Given the description of an element on the screen output the (x, y) to click on. 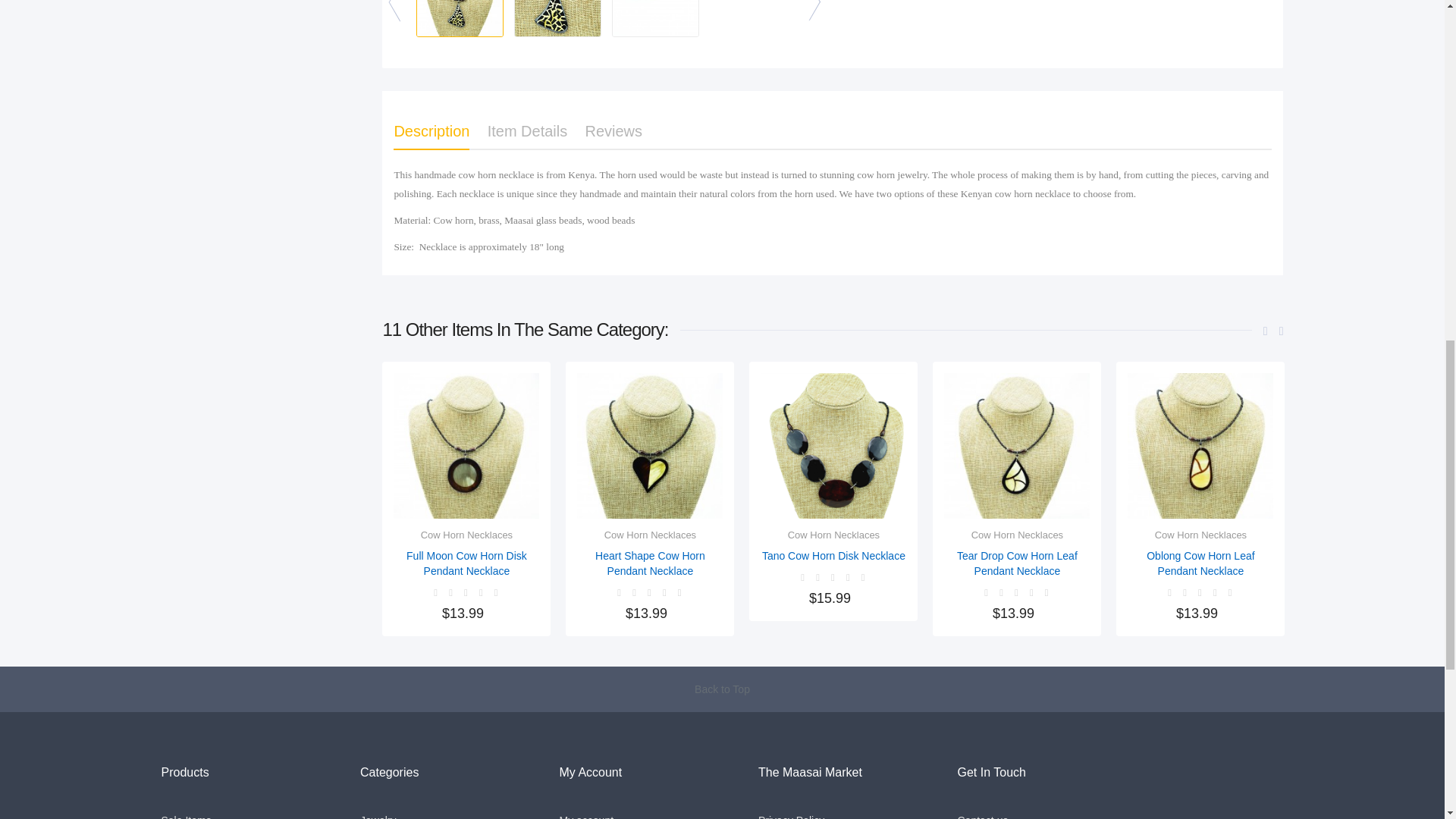
Triangular Giraffe Print Cow Horn Pendant Necklace (557, 18)
Triangular Giraffe Print Cow Horn Pendant Necklace (459, 18)
Triangular Giraffe Print Cow Horn Pendant Necklace (654, 18)
